Given the description of an element on the screen output the (x, y) to click on. 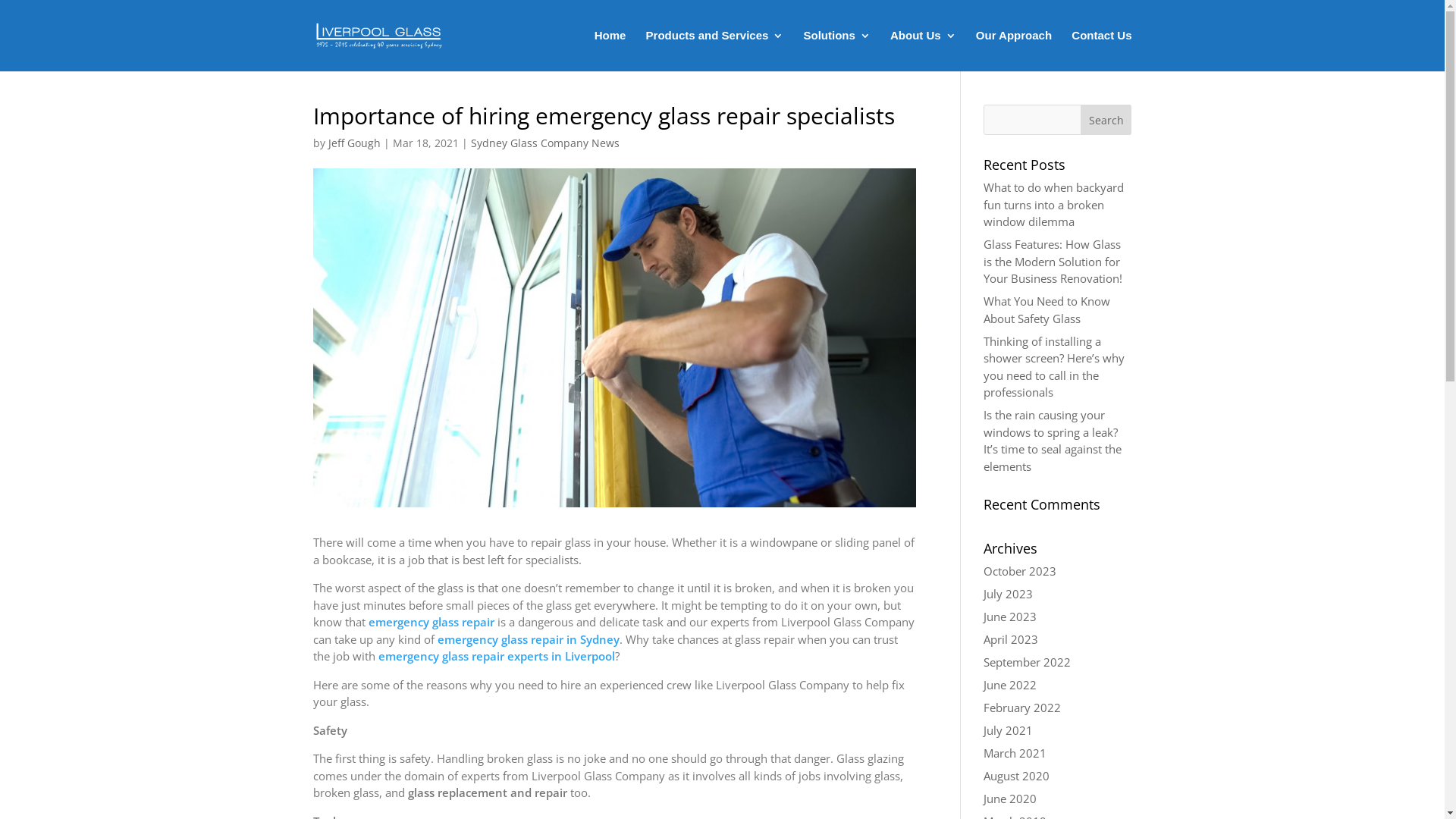
emergency glass repair in Sydney Element type: text (527, 638)
March 2021 Element type: text (1014, 752)
Sydney Glass Company News Element type: text (544, 142)
April 2023 Element type: text (1010, 638)
October 2023 Element type: text (1019, 570)
What You Need to Know About Safety Glass Element type: text (1046, 309)
Products and Services Element type: text (715, 50)
February 2022 Element type: text (1021, 707)
July 2021 Element type: text (1007, 729)
June 2020 Element type: text (1009, 798)
July 2023 Element type: text (1007, 593)
June 2022 Element type: text (1009, 684)
June 2023 Element type: text (1009, 616)
emergency glass repair Element type: text (431, 621)
emergency glass repair experts in Liverpool Element type: text (495, 655)
About Us Element type: text (923, 50)
Search Element type: text (1106, 119)
Jeff Gough Element type: text (353, 142)
September 2022 Element type: text (1026, 661)
Home Element type: text (610, 50)
Contact Us Element type: text (1101, 50)
Solutions Element type: text (836, 50)
Our Approach Element type: text (1013, 50)
August 2020 Element type: text (1016, 775)
